Given the description of an element on the screen output the (x, y) to click on. 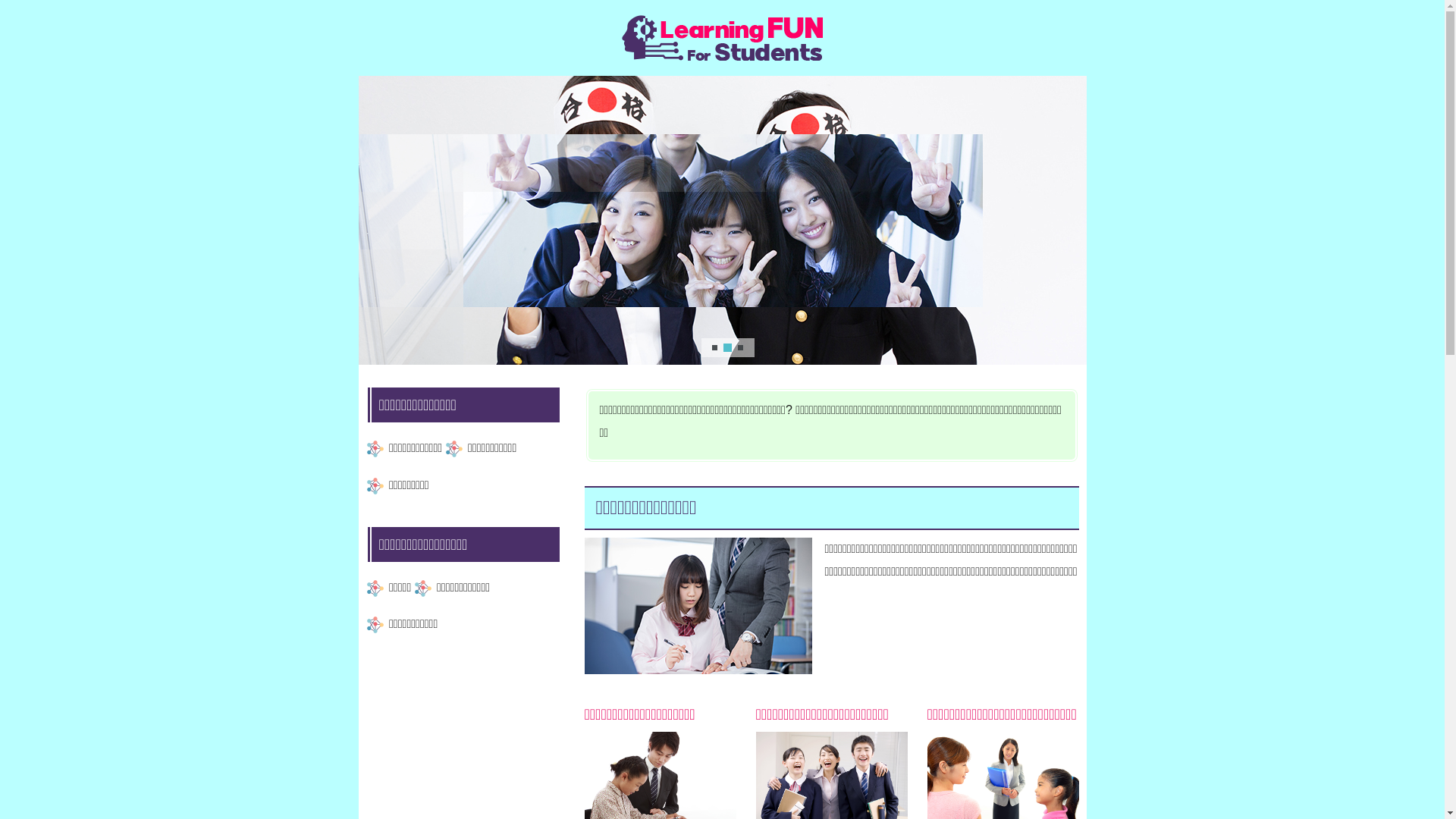
1 Element type: text (714, 347)
3 Element type: text (740, 347)
2 Element type: text (727, 347)
